Given the description of an element on the screen output the (x, y) to click on. 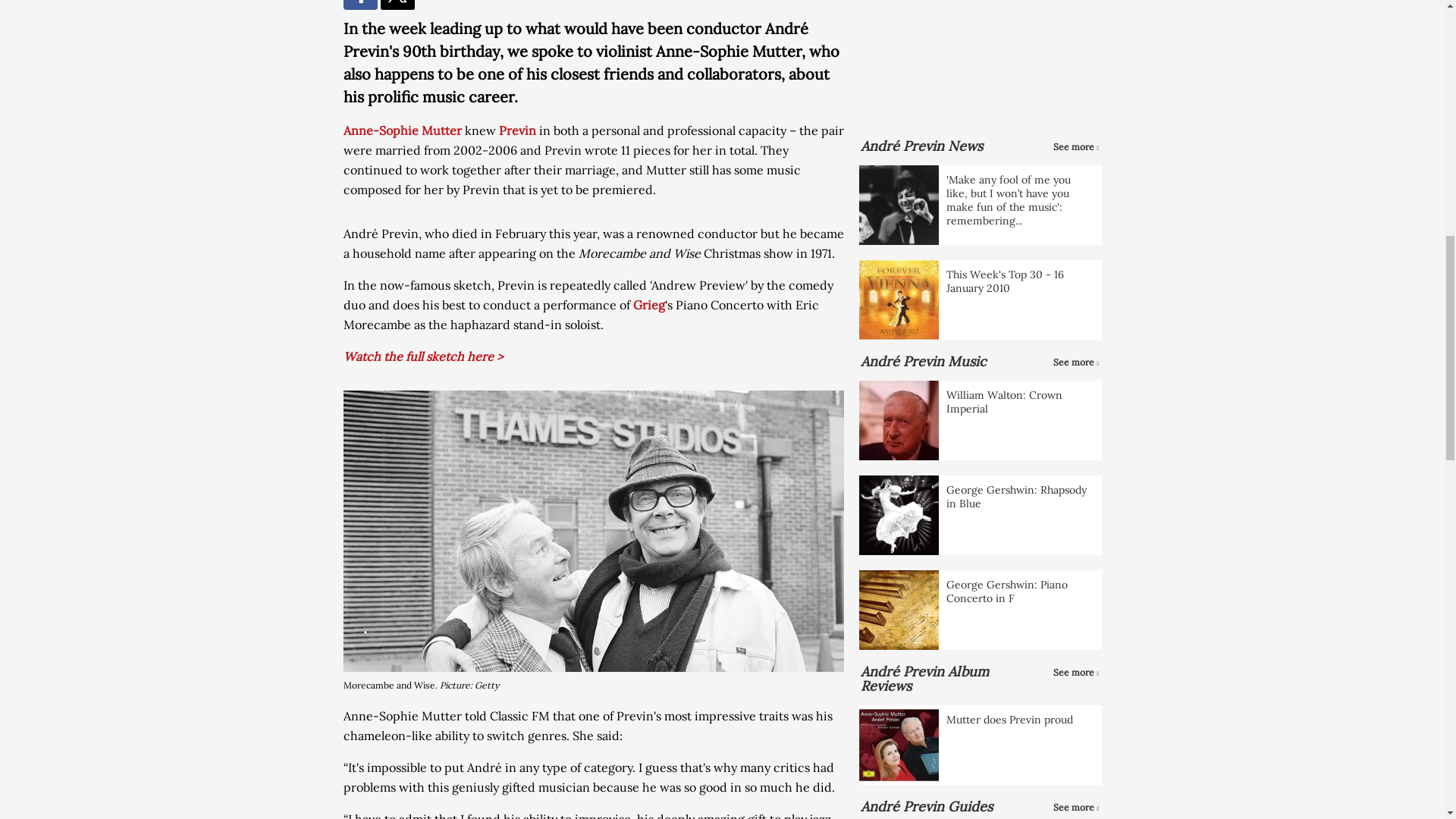
Grieg (647, 304)
Previn (517, 130)
Anne-Sophie Mutter (401, 130)
